Given the description of an element on the screen output the (x, y) to click on. 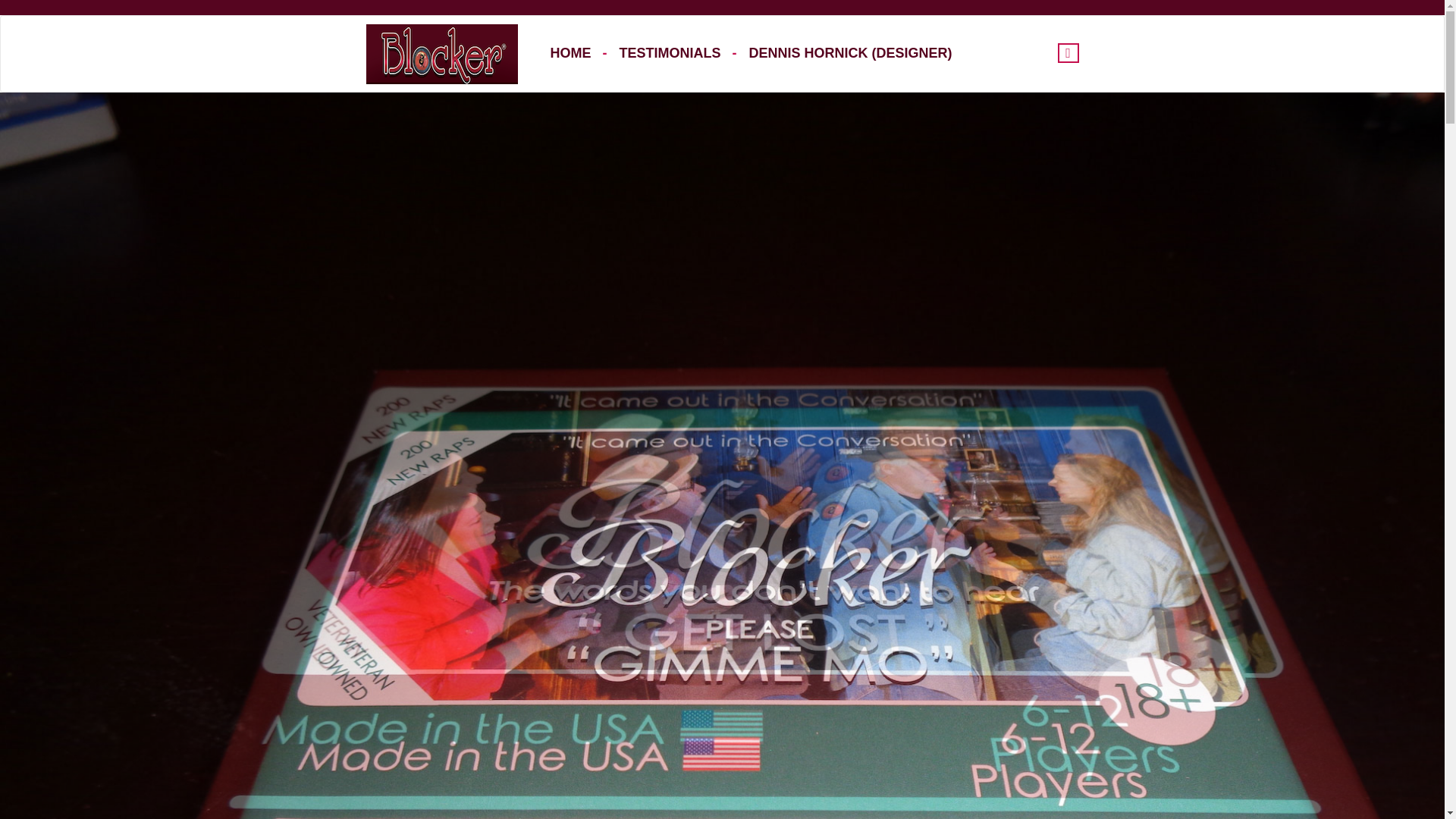
HOME (578, 52)
TESTIMONIALS (677, 52)
